Given the description of an element on the screen output the (x, y) to click on. 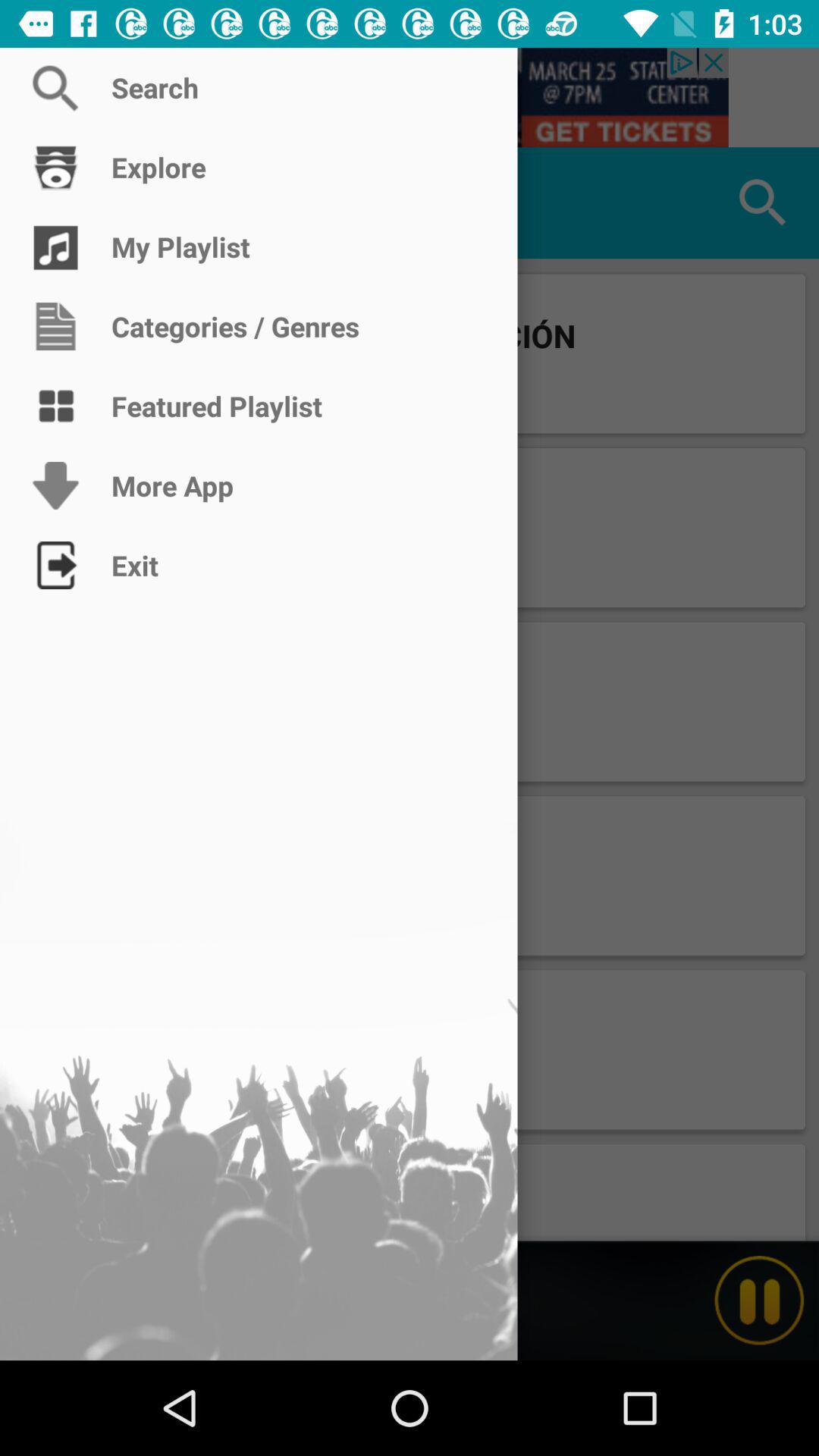
pause video button (759, 1300)
